Given the description of an element on the screen output the (x, y) to click on. 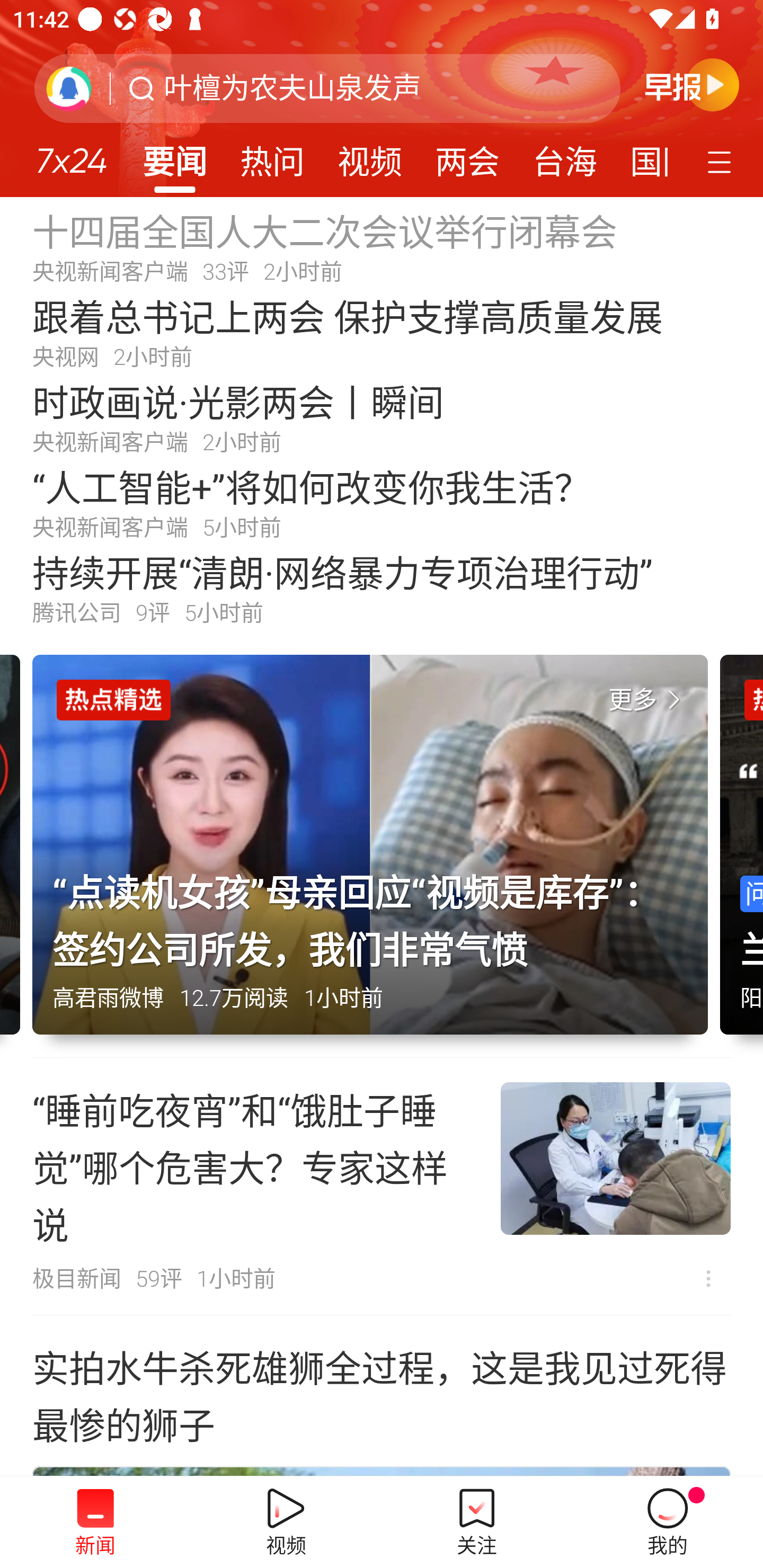
早晚报 (691, 84)
刷新 (68, 88)
叶檀为农夫山泉发声 (292, 88)
7x24 (70, 154)
要闻 (174, 155)
热问 (272, 155)
视频 (369, 155)
两会 (466, 155)
台海 (564, 155)
 定制频道 (721, 160)
十四届全国人大二次会议举行闭幕会 央视新闻客户端 33评 2小时前 (381, 245)
跟着总书记上两会 保护支撑高质量发展 央视网 2小时前 (381, 331)
时政画说·光影两会丨瞬间 央视新闻客户端 2小时前 (381, 416)
“人工智能+”将如何改变你我生活？ 央视新闻客户端 5小时前 (381, 502)
持续开展“清朗·网络暴力专项治理行动” 腾讯公司 9评 5小时前 (381, 587)
更多  (648, 699)
“睡前吃夜宵”和“饿肚子睡觉”哪个危害大？专家这样说 极目新闻 59评 1小时前  不感兴趣 (381, 1186)
 不感兴趣 (707, 1278)
实拍水牛杀死雄狮全过程，这是我见过死得最惨的狮子 (381, 1394)
